Given the description of an element on the screen output the (x, y) to click on. 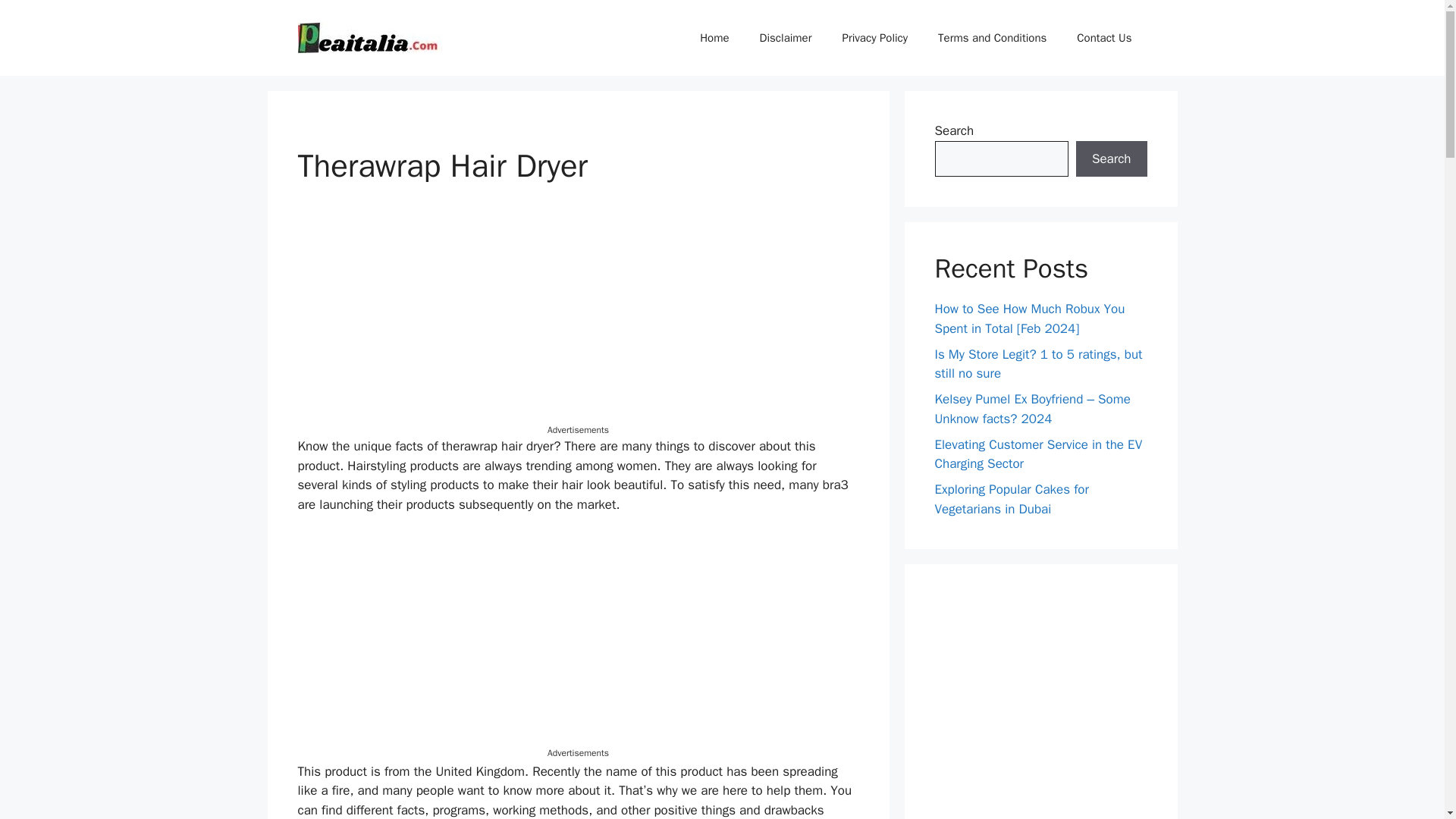
Elevating Customer Service in the EV Charging Sector (1037, 454)
Search (1111, 158)
Contact Us (1104, 37)
Home (714, 37)
Advertisement (1040, 706)
Advertisement (578, 639)
Is My Store Legit? 1 to 5 ratings, but still no sure (1037, 363)
Terms and Conditions (992, 37)
Disclaimer (785, 37)
Privacy Policy (875, 37)
Advertisement (578, 316)
Exploring Popular Cakes for Vegetarians in Dubai (1010, 498)
